Given the description of an element on the screen output the (x, y) to click on. 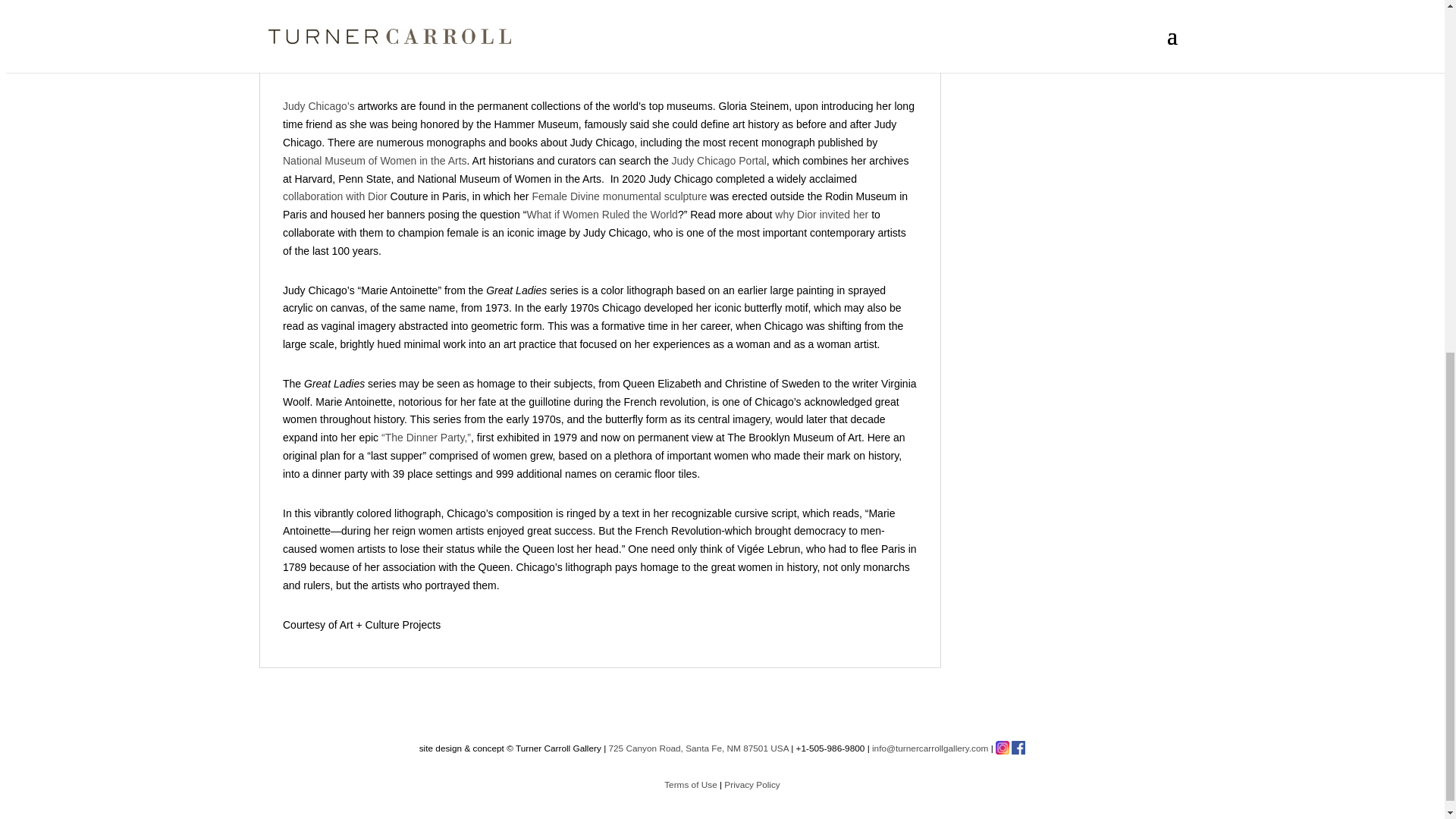
Judy Chicago Portal (719, 160)
What if Women Ruled the World (601, 214)
725 Canyon Road, Santa Fe, NM 87501 USA (697, 747)
Female Divine monumental sculpture (618, 196)
Privacy Policy (750, 784)
collaboration with Dior (334, 196)
why Dior invited her (820, 214)
TCG (697, 747)
Terms of Use (690, 784)
TCG (930, 747)
National Museum of Women in the Arts (374, 160)
